Given the description of an element on the screen output the (x, y) to click on. 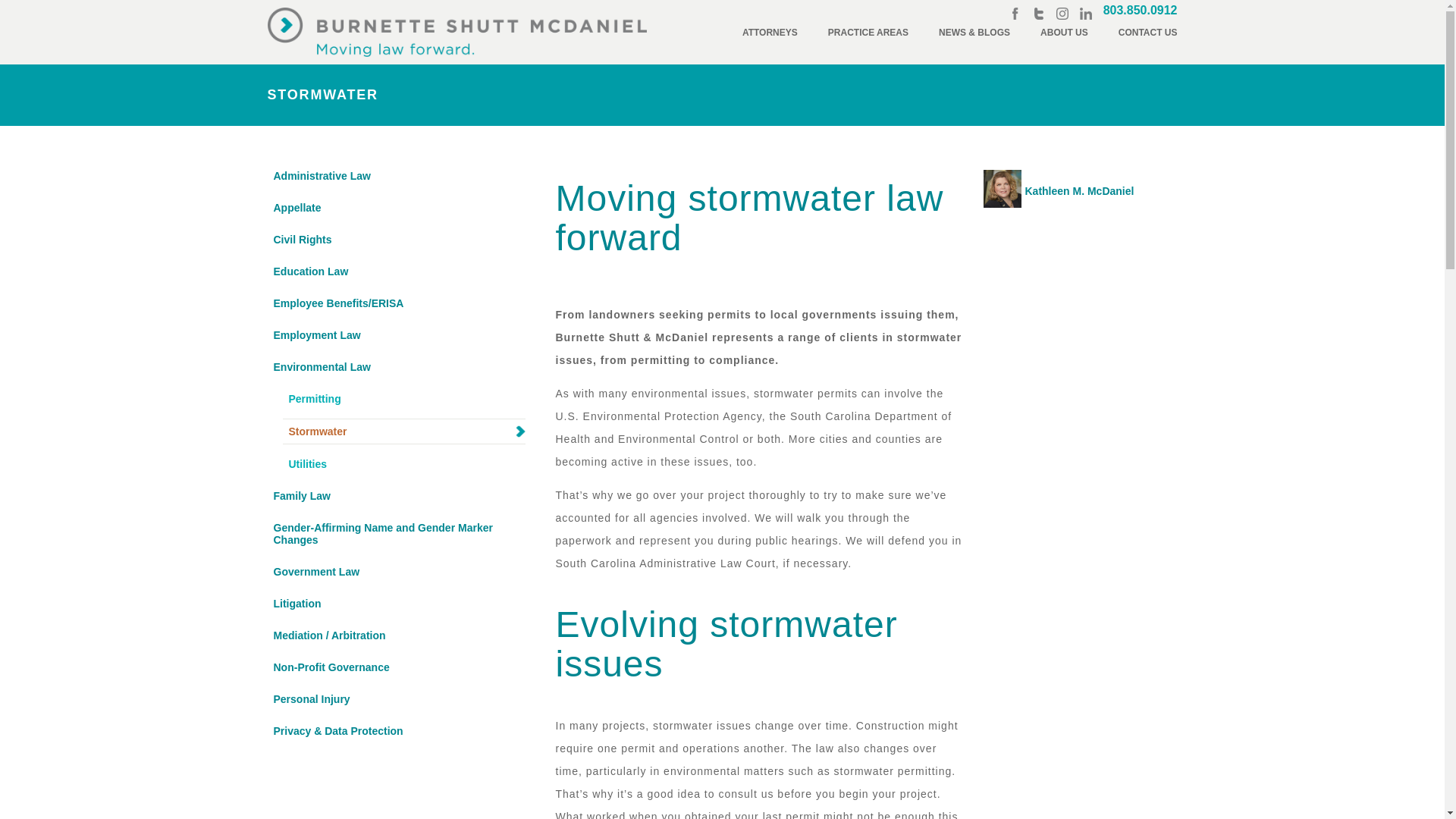
Civil Rights (395, 239)
Kathleen M. McDaniel (1068, 188)
Administrative Law (395, 175)
Appellate (395, 207)
803.850.0912 (1140, 10)
PRACTICE AREAS (868, 32)
ABOUT US (1064, 32)
Employment Law (395, 334)
ATTORNEYS (769, 32)
Education Law (395, 271)
CONTACT US (1147, 32)
